Given the description of an element on the screen output the (x, y) to click on. 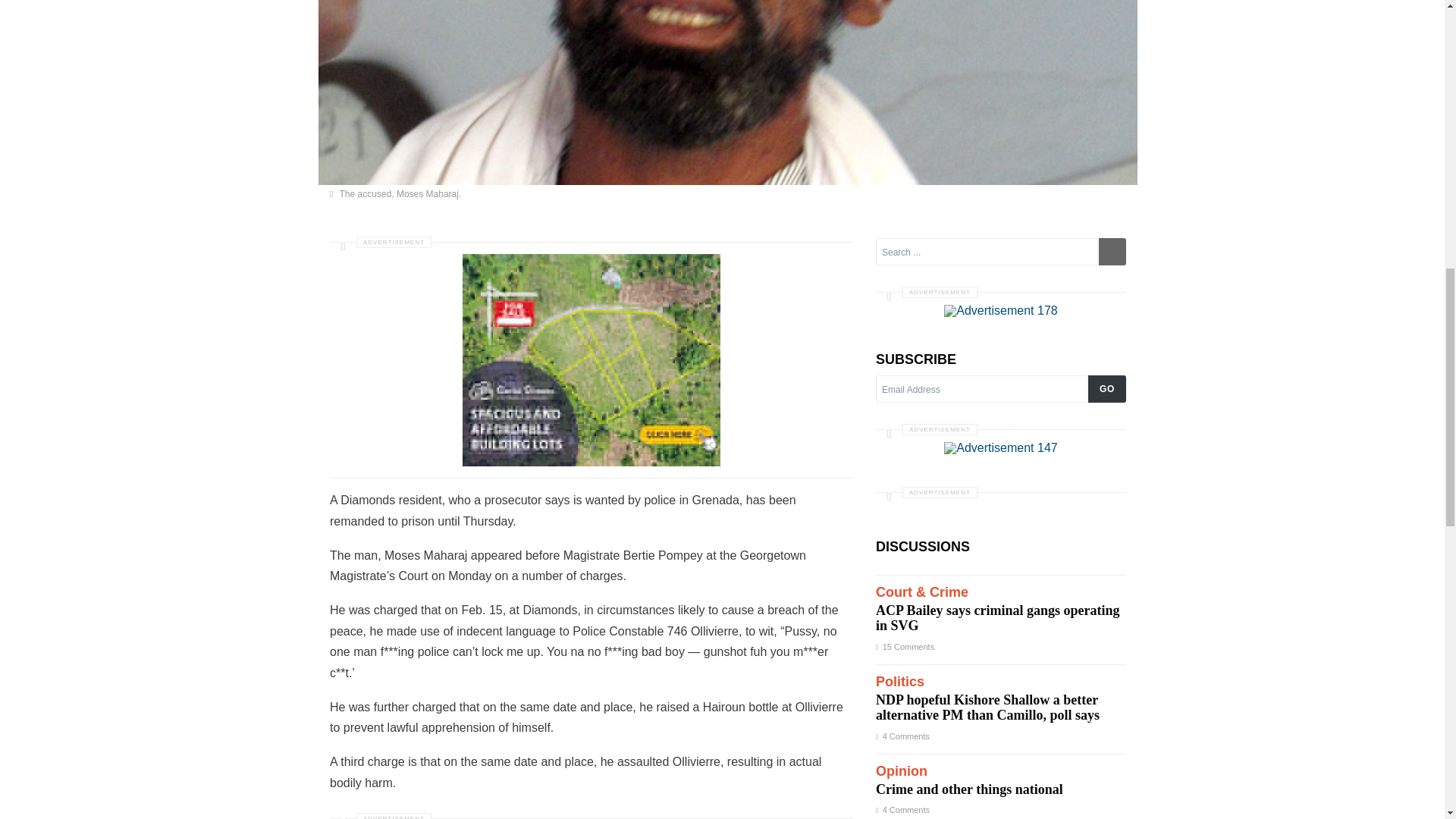
ACP Bailey says criminal gangs operating in SVG (1000, 610)
